Given the description of an element on the screen output the (x, y) to click on. 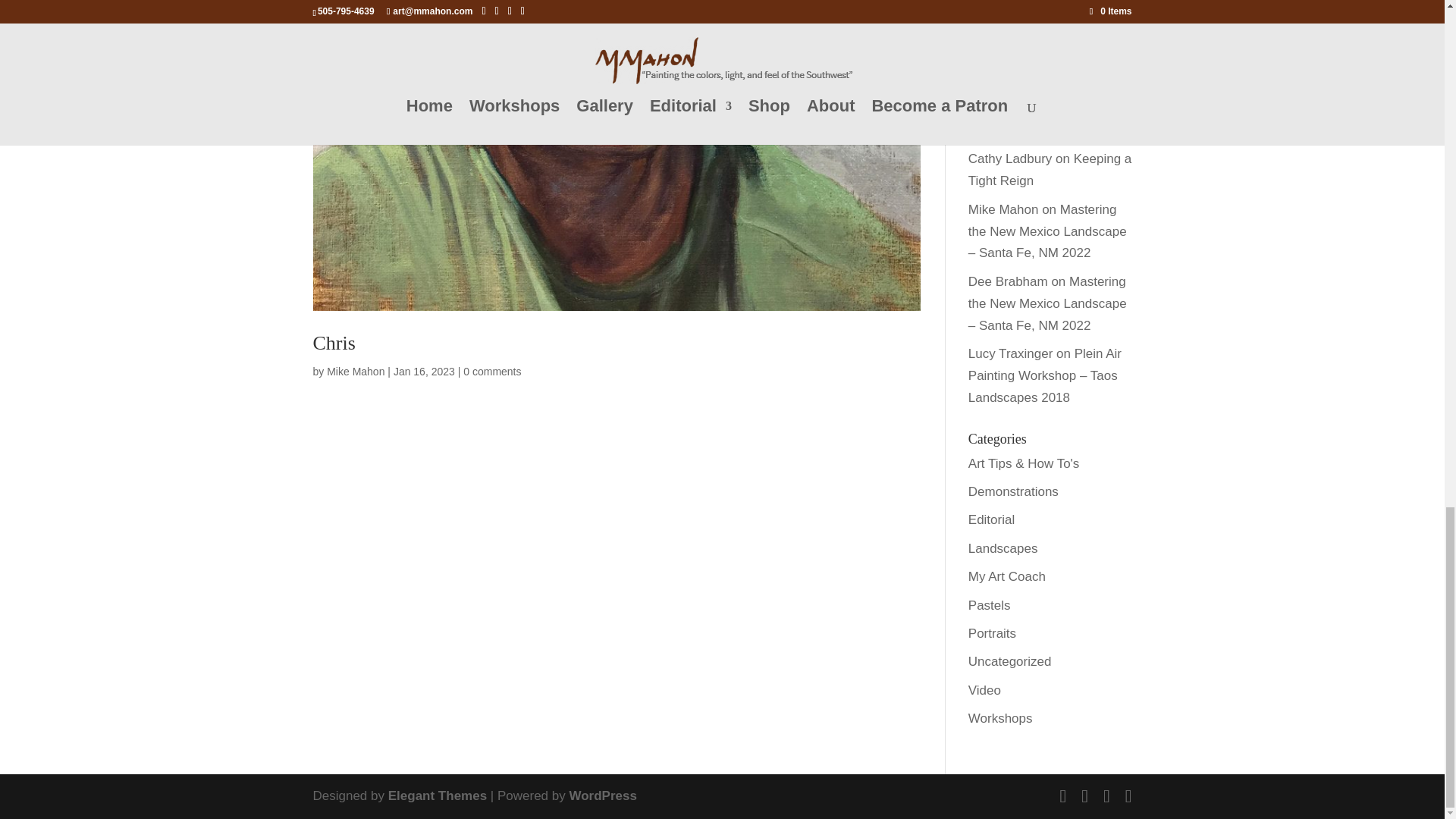
0 comments (492, 371)
Mike Mahon (355, 371)
Premium WordPress Themes (437, 795)
Chris (334, 342)
Posts by Mike Mahon (355, 371)
